Given the description of an element on the screen output the (x, y) to click on. 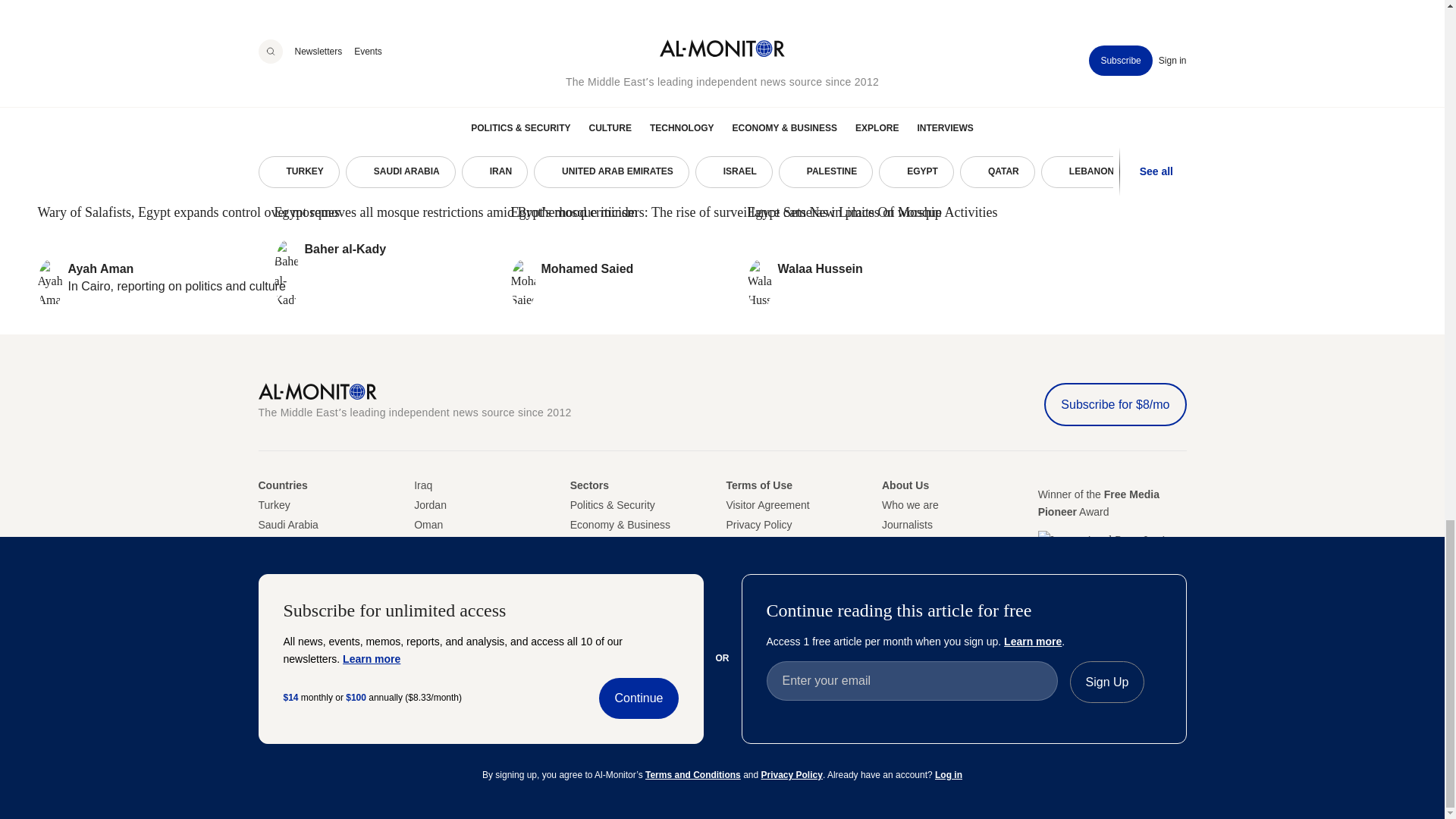
United Arab Amirates (268, 563)
